Given the description of an element on the screen output the (x, y) to click on. 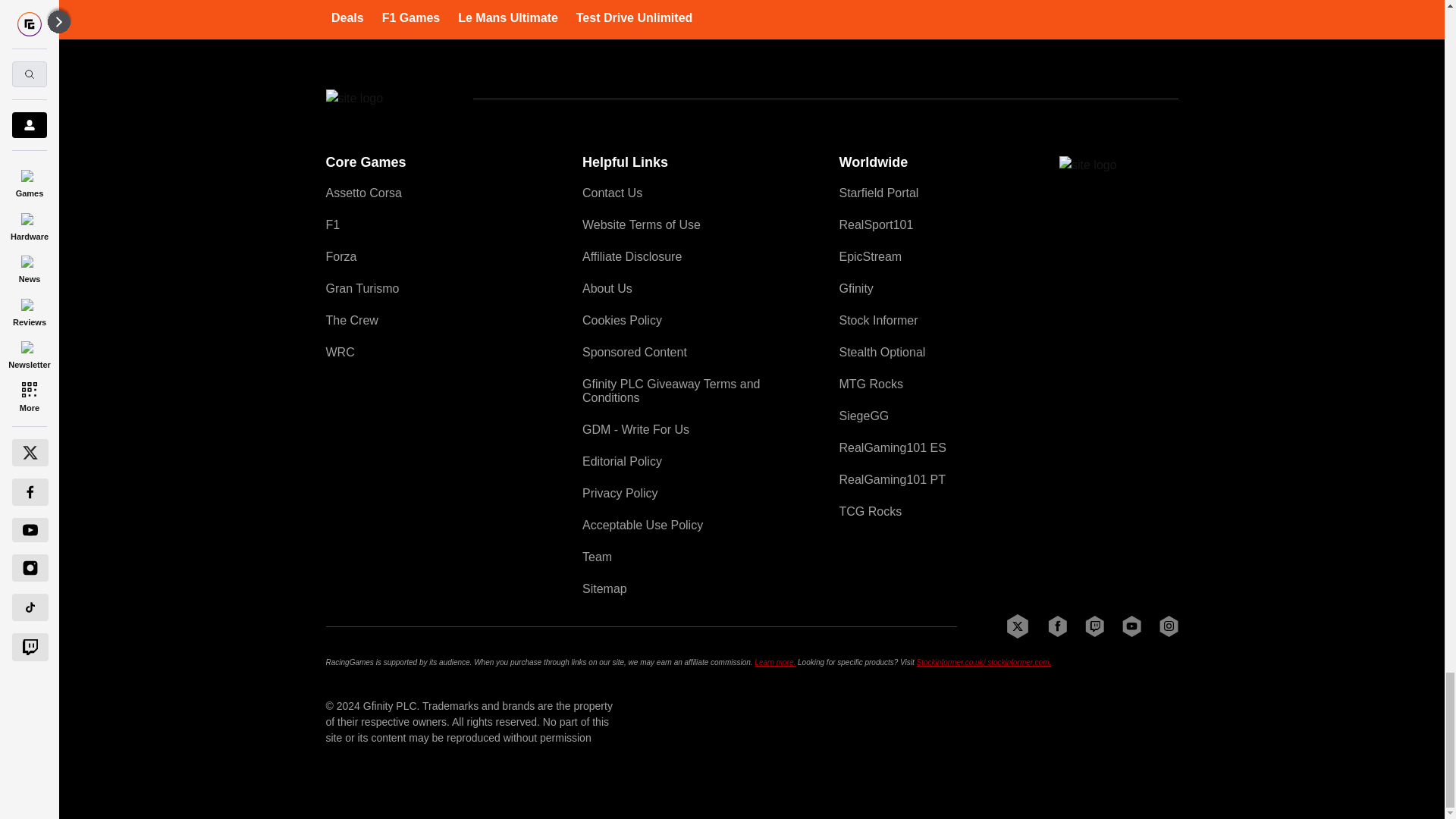
Latest News (1063, 2)
